Given the description of an element on the screen output the (x, y) to click on. 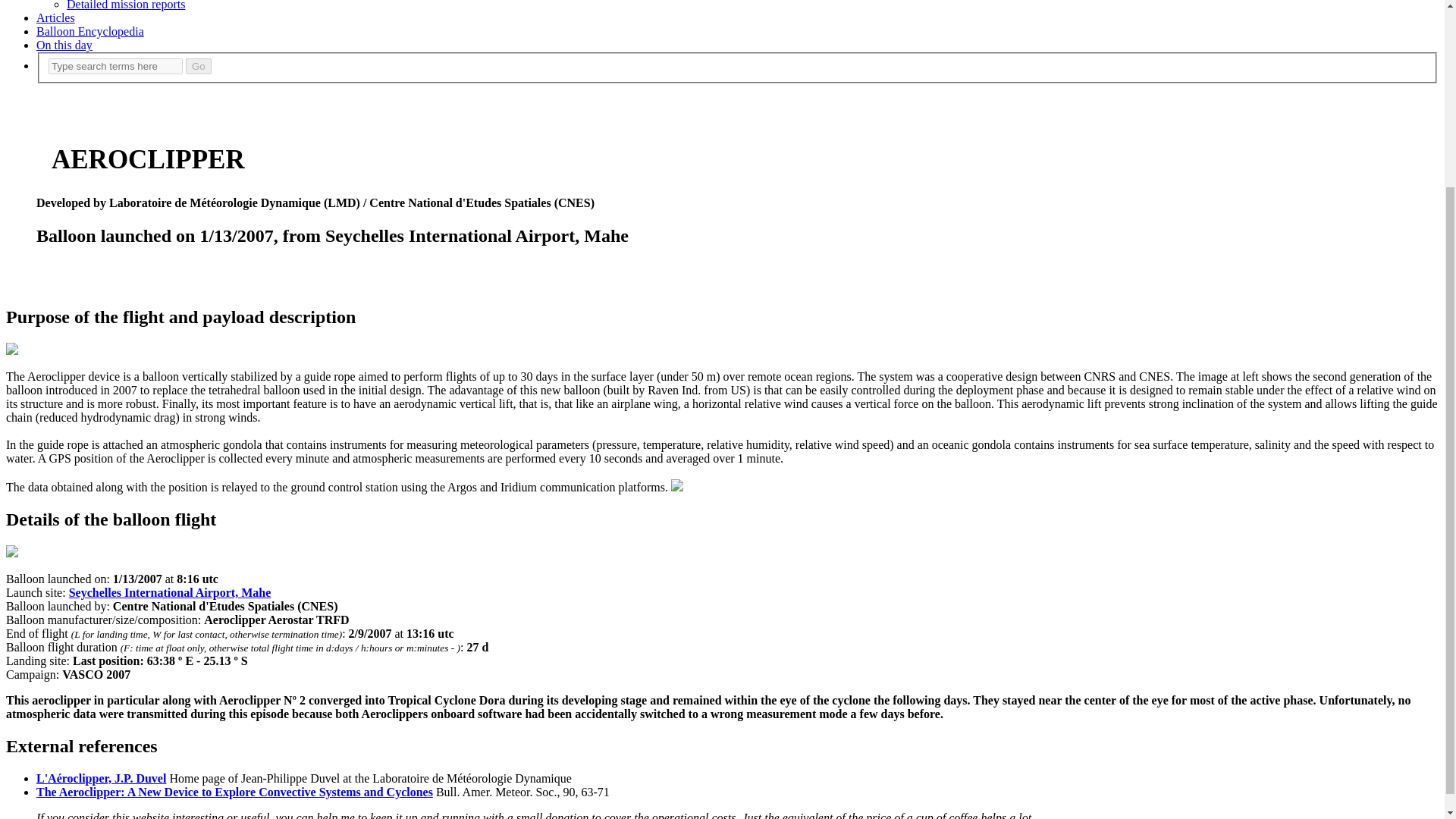
Go (198, 66)
On this day (64, 44)
Articles (55, 17)
Seychelles International Airport, Mahe (169, 592)
Detailed mission reports (125, 5)
Balloon Encyclopedia (90, 31)
